Given the description of an element on the screen output the (x, y) to click on. 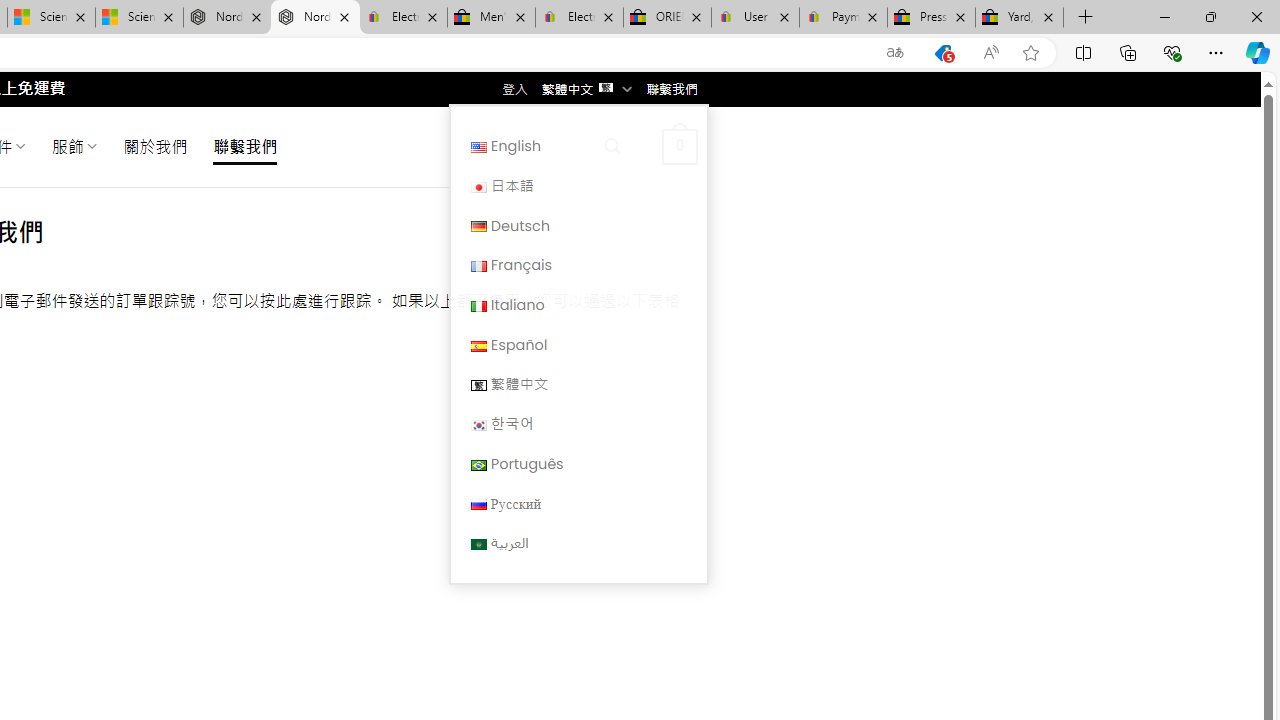
Nordace - Summer Adventures 2024 (227, 17)
Deutsch Deutsch (578, 225)
